Given the description of an element on the screen output the (x, y) to click on. 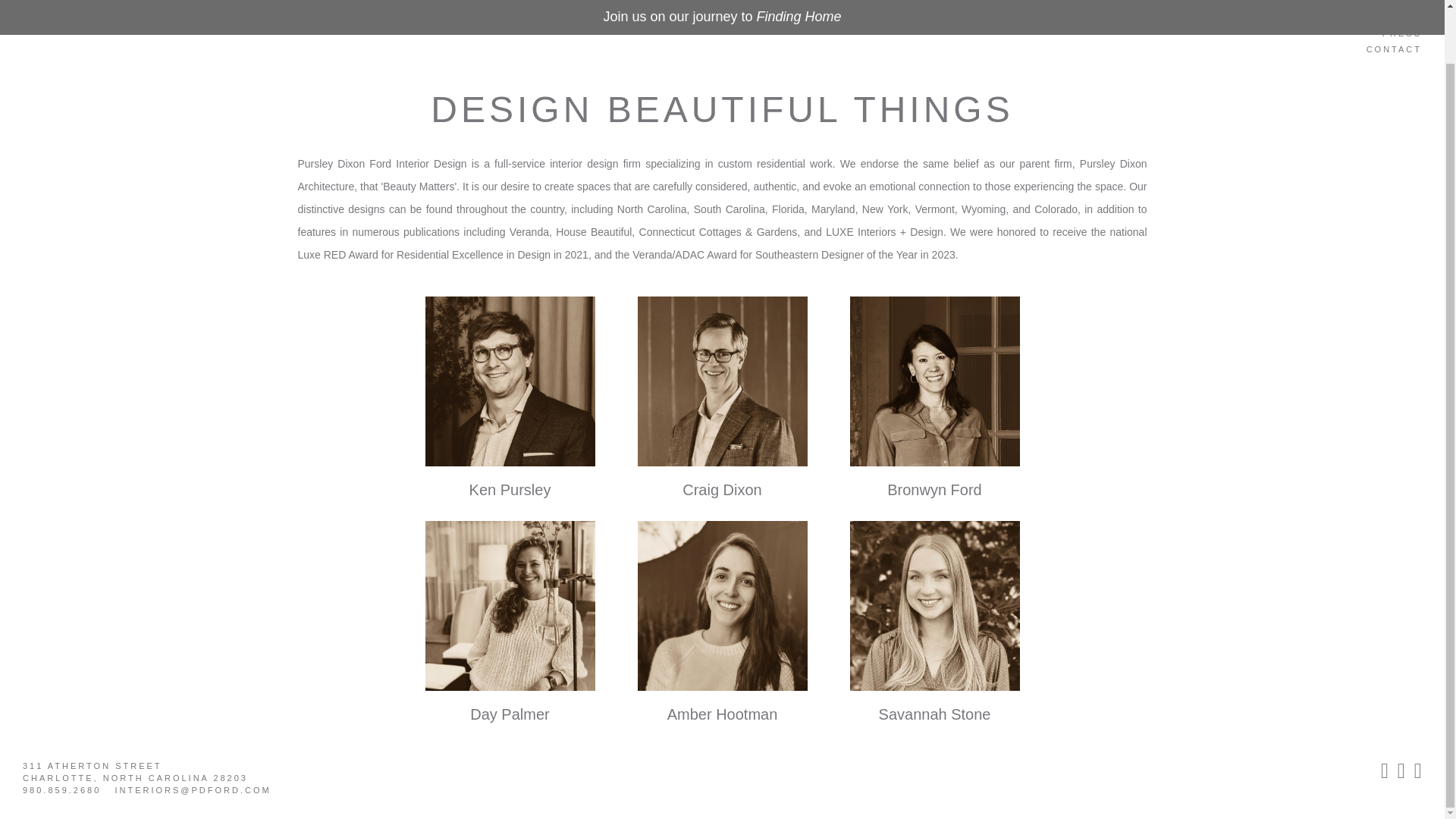
PURSLEY DIXON FORD INTERIOR DESIGN (301, 12)
ABOUT (1375, 19)
PRESS (1375, 35)
ARCHITECTURE (1375, 6)
CONTACT (1375, 51)
